Given the description of an element on the screen output the (x, y) to click on. 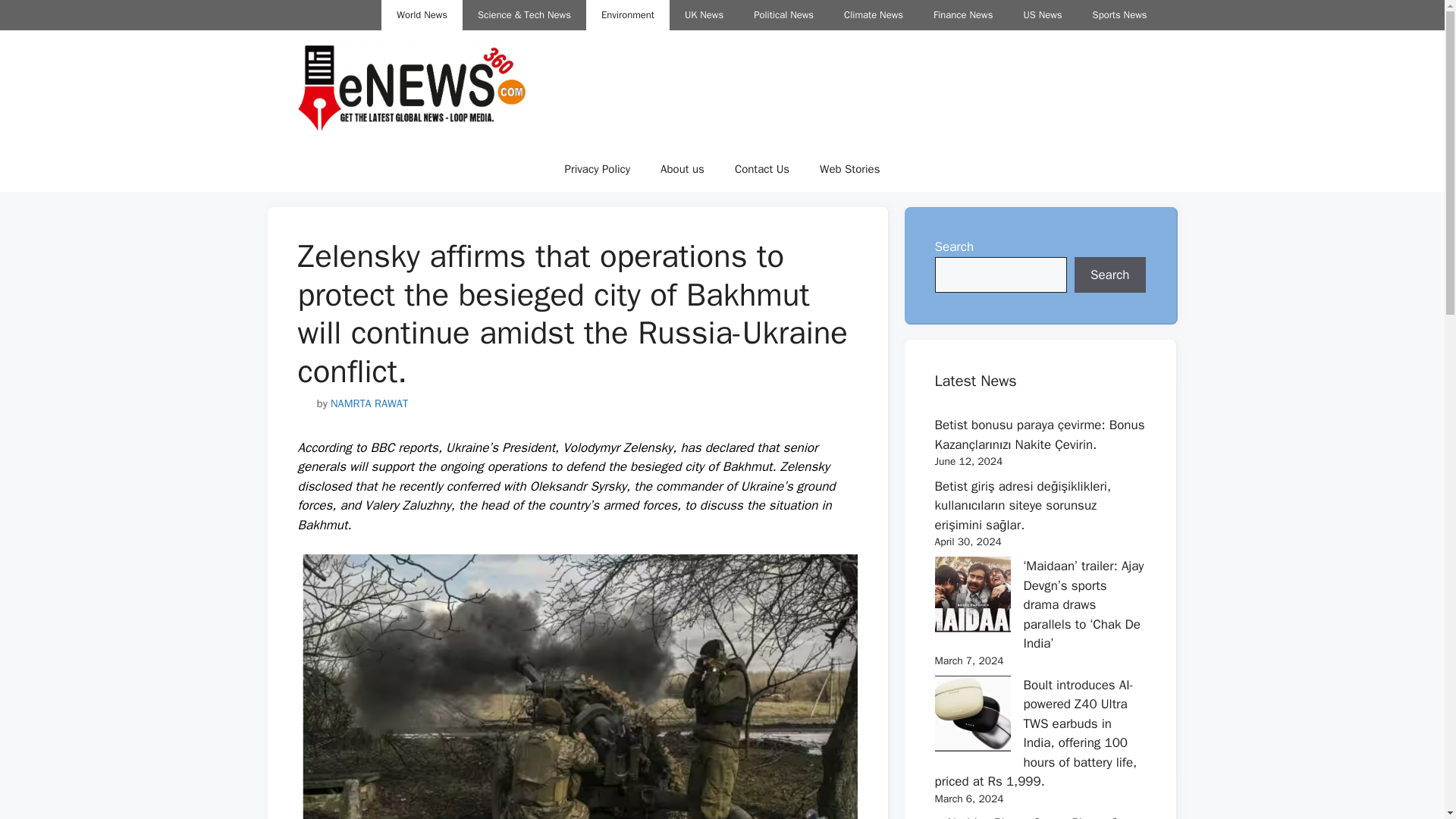
View all posts by NAMRTA RAWAT (368, 403)
Contact Us (762, 168)
Political News (783, 15)
Environment (627, 15)
Sports News (1119, 15)
UK News (703, 15)
US News (1042, 15)
NAMRTA RAWAT (368, 403)
Finance News (962, 15)
